Given the description of an element on the screen output the (x, y) to click on. 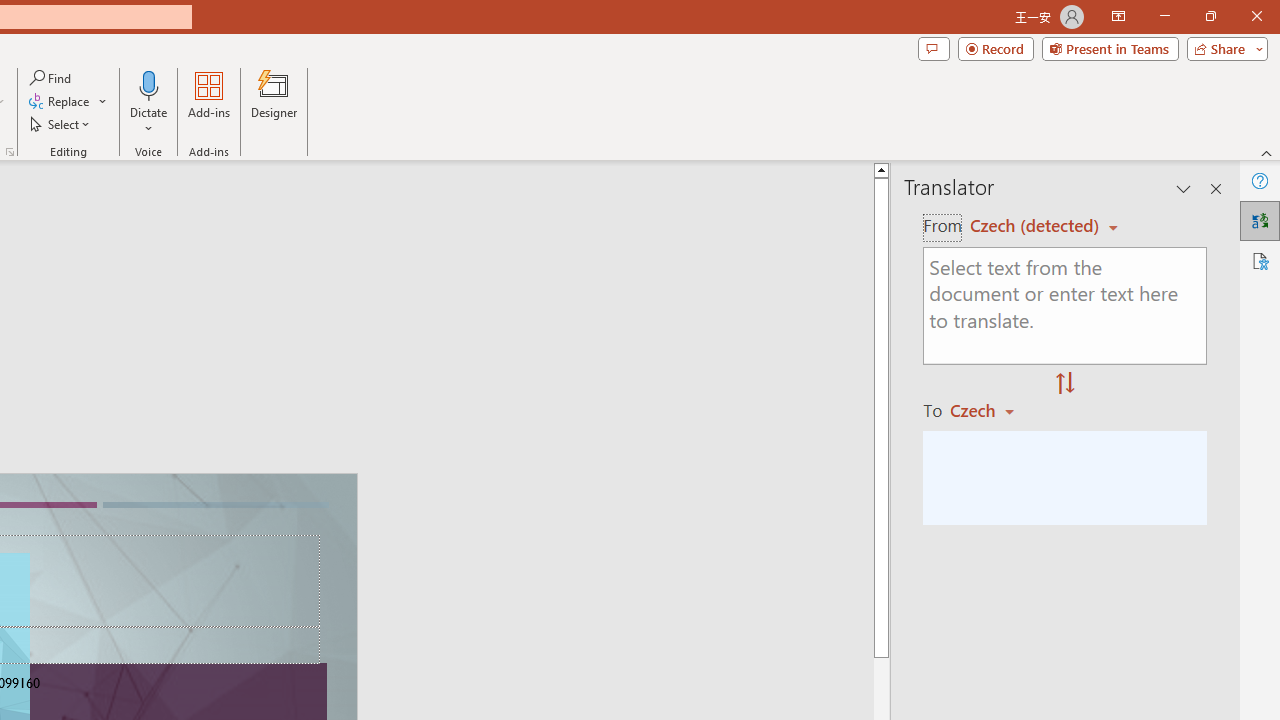
Swap "from" and "to" languages. (1065, 383)
